Given the description of an element on the screen output the (x, y) to click on. 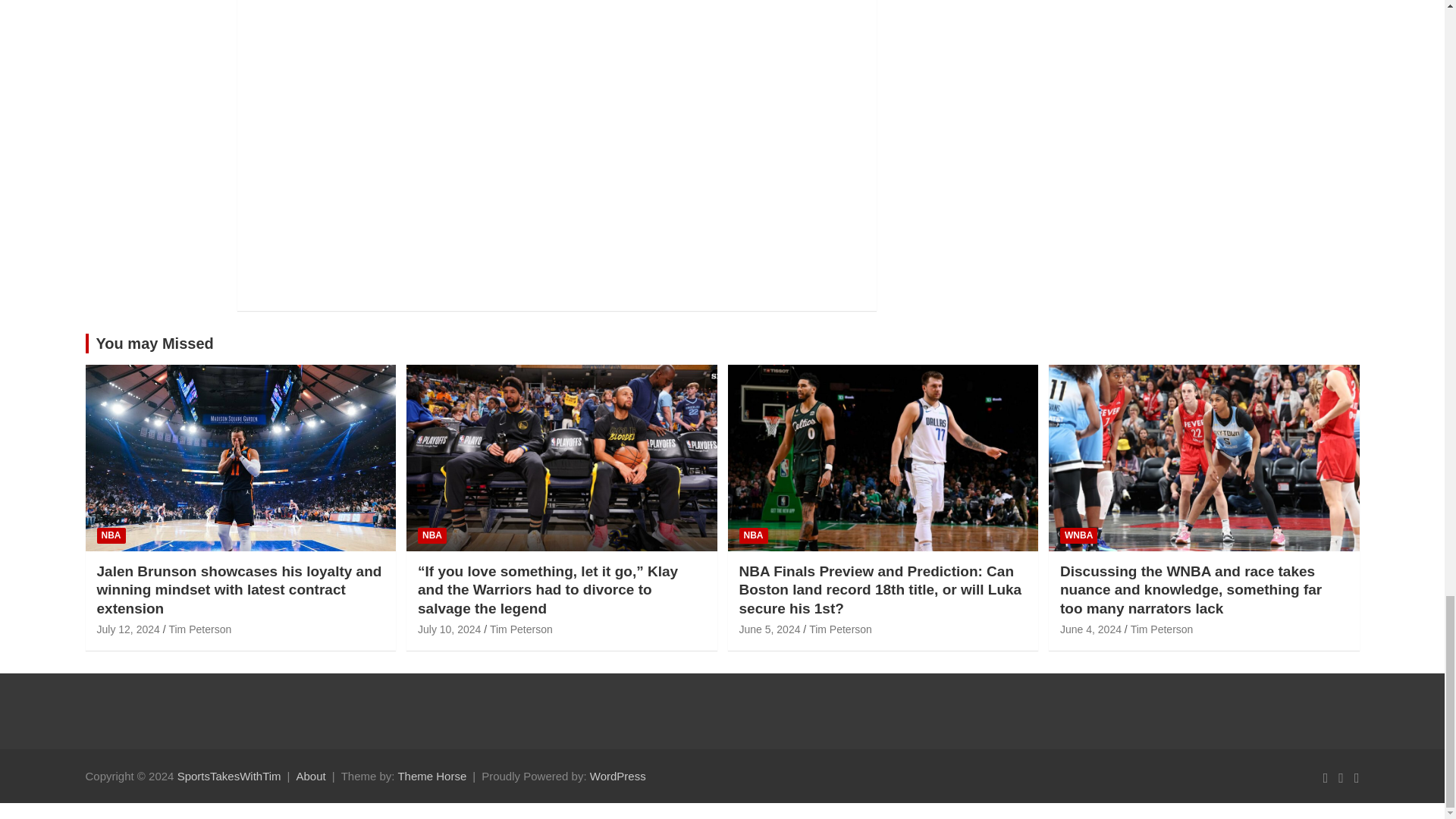
Theme Horse (431, 775)
SportsTakesWithTim (229, 775)
WordPress (617, 775)
